Given the description of an element on the screen output the (x, y) to click on. 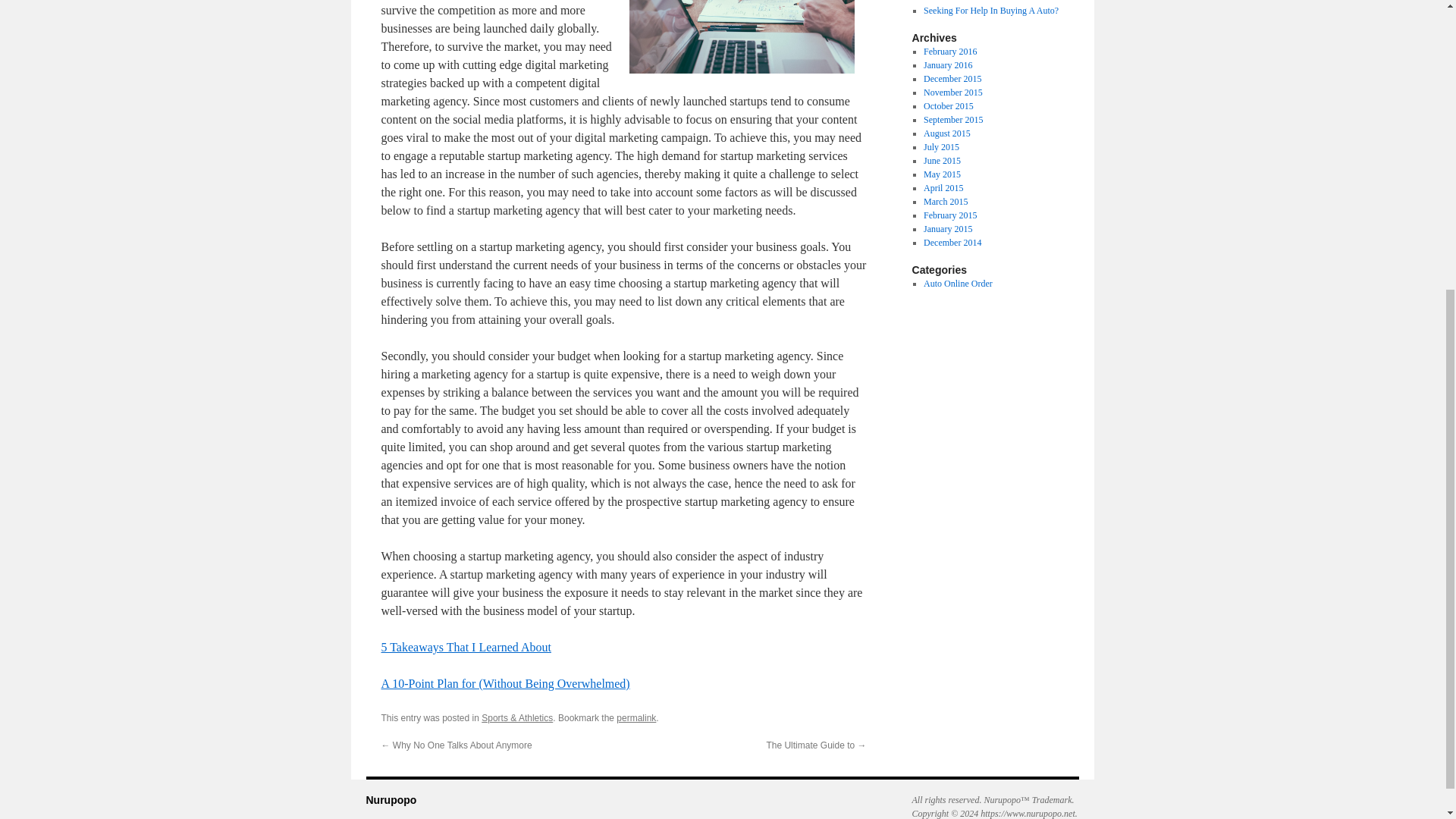
June 2015 (941, 160)
February 2015 (949, 214)
March 2015 (945, 201)
Seeking For Help In Buying A Auto? (990, 9)
November 2015 (952, 91)
Acquiring A Great Vehicle: Tips And Tricks (990, 1)
August 2015 (947, 132)
October 2015 (948, 105)
February 2016 (949, 50)
permalink (635, 717)
